Given the description of an element on the screen output the (x, y) to click on. 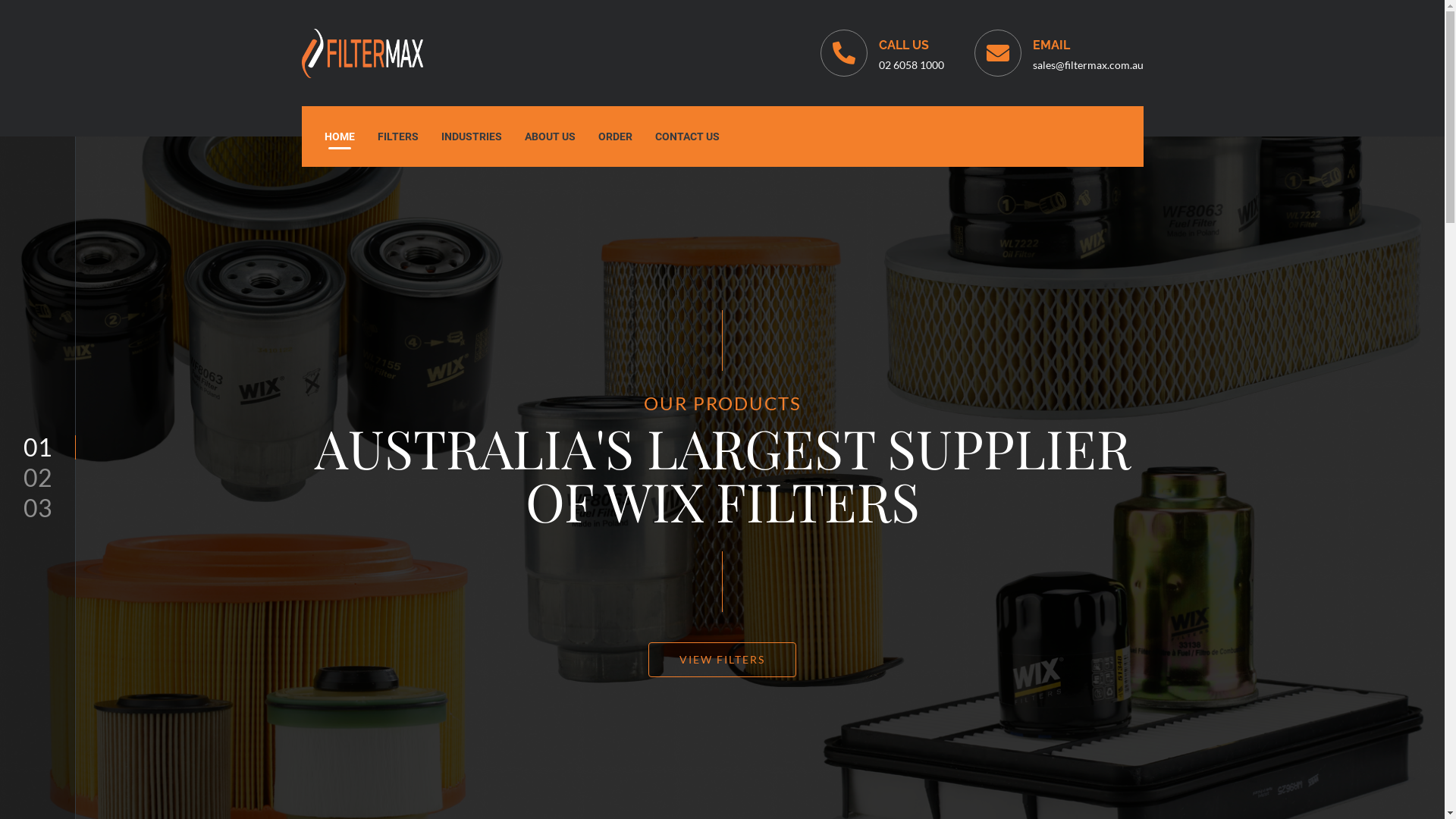
02 6058 1000 Element type: text (910, 64)
HOME Element type: text (338, 136)
ORDER Element type: text (614, 136)
VIEW FILTERS Element type: text (722, 659)
FILTERS Element type: text (397, 136)
CONTACT US Element type: text (686, 136)
ABOUT US Element type: text (549, 136)
INDUSTRIES Element type: text (470, 136)
sales@filtermax.com.au Element type: text (1087, 64)
